Given the description of an element on the screen output the (x, y) to click on. 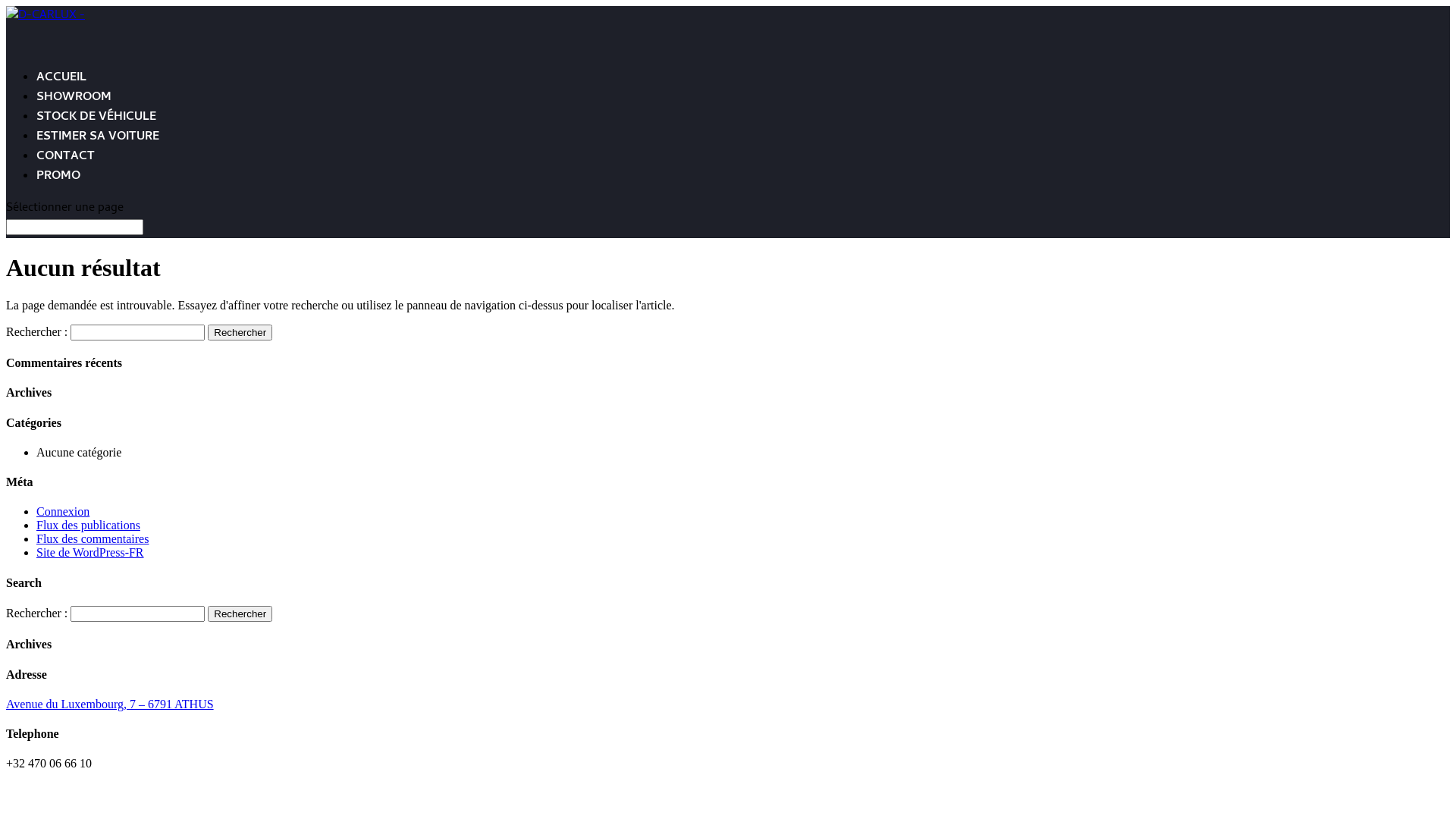
Site de WordPress-FR Element type: text (90, 552)
Connexion Element type: text (62, 511)
Flux des publications Element type: text (88, 524)
CONTACT Element type: text (65, 172)
PROMO Element type: text (58, 191)
Rechercher Element type: text (239, 332)
ESTIMER SA VOITURE Element type: text (97, 152)
Rechercher: Element type: hover (74, 227)
ACCUEIL Element type: text (61, 93)
SHOWROOM Element type: text (73, 112)
Flux des commentaires Element type: text (92, 538)
Rechercher Element type: text (239, 613)
